Given the description of an element on the screen output the (x, y) to click on. 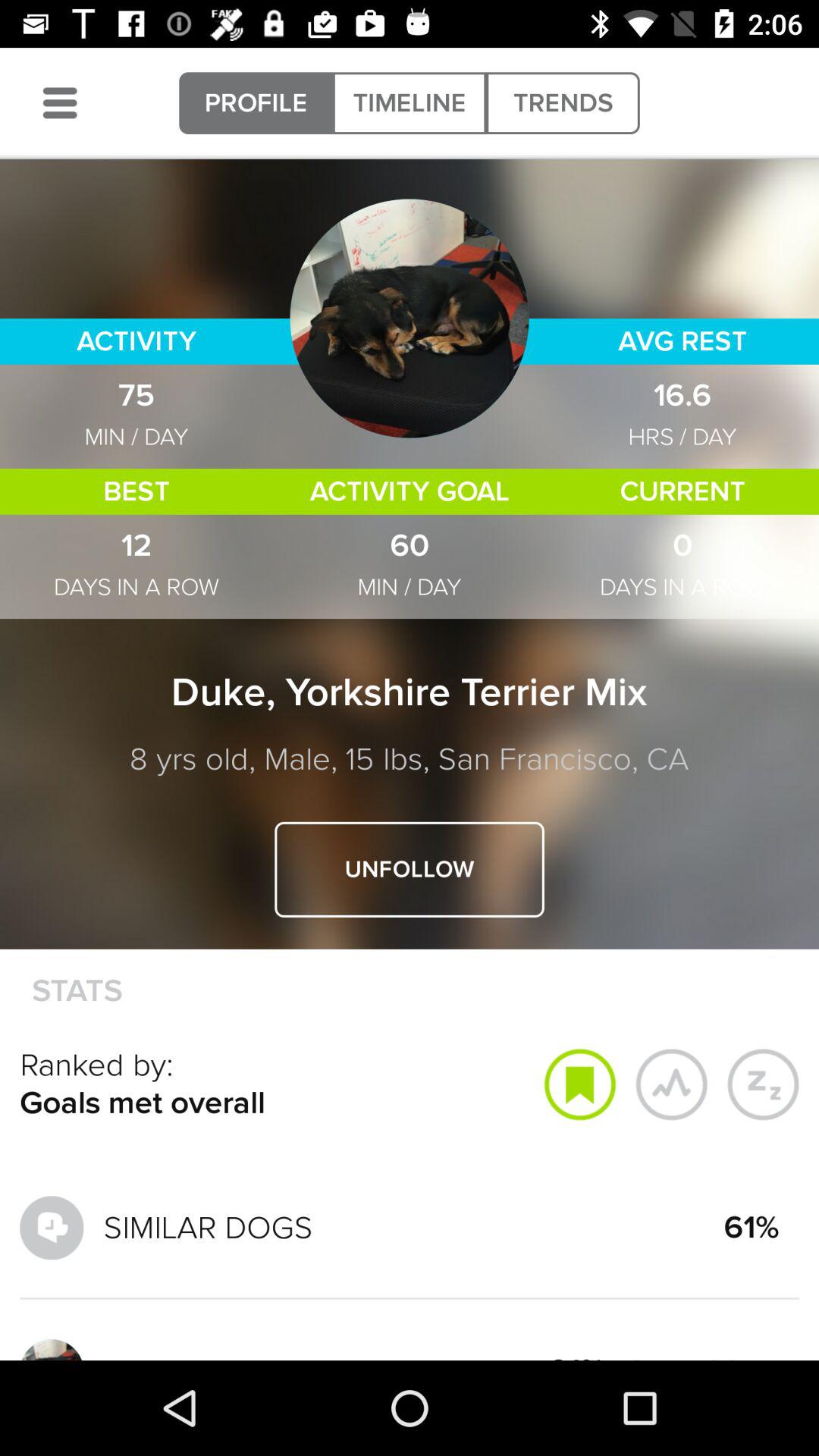
click on the text left to the timeline (255, 102)
click on the text icon which is left to the similar dogs (51, 1227)
